Given the description of an element on the screen output the (x, y) to click on. 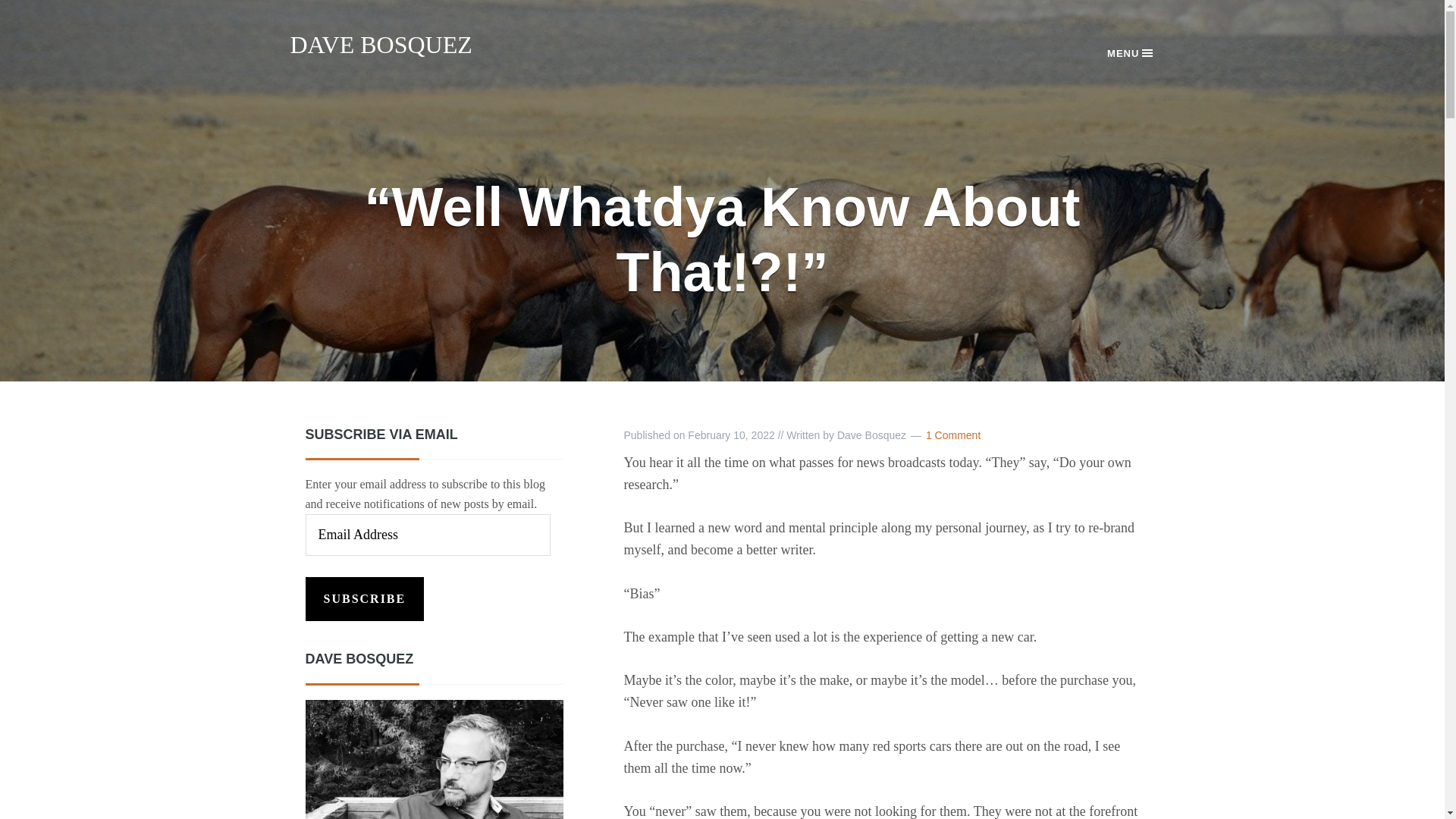
MENU (1130, 53)
1 Comment (952, 435)
DAVE BOSQUEZ (380, 44)
SUBSCRIBE (363, 598)
Dave Bosquez (433, 759)
